Given the description of an element on the screen output the (x, y) to click on. 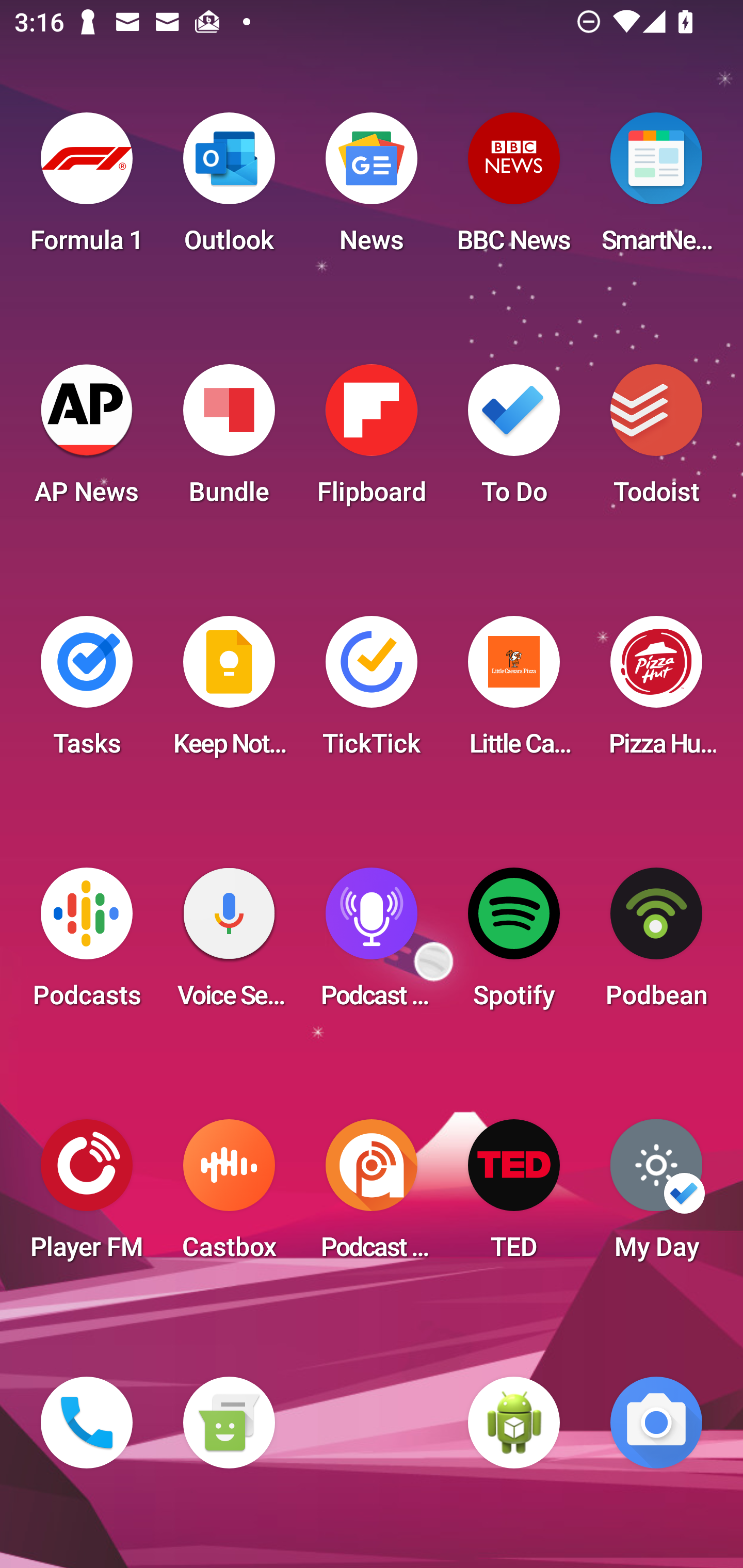
Formula 1 (86, 188)
Outlook (228, 188)
News (371, 188)
BBC News (513, 188)
SmartNews (656, 188)
AP News (86, 440)
Bundle (228, 440)
Flipboard (371, 440)
To Do (513, 440)
Todoist (656, 440)
Tasks (86, 692)
Keep Notes (228, 692)
TickTick (371, 692)
Little Caesars Pizza (513, 692)
Pizza Hut HK & Macau (656, 692)
Podcasts (86, 943)
Voice Search (228, 943)
Podcast Player (371, 943)
Spotify (513, 943)
Podbean (656, 943)
Player FM (86, 1195)
Castbox (228, 1195)
Podcast Addict (371, 1195)
TED (513, 1195)
My Day (656, 1195)
Phone (86, 1422)
Messaging (228, 1422)
WebView Browser Tester (513, 1422)
Camera (656, 1422)
